Given the description of an element on the screen output the (x, y) to click on. 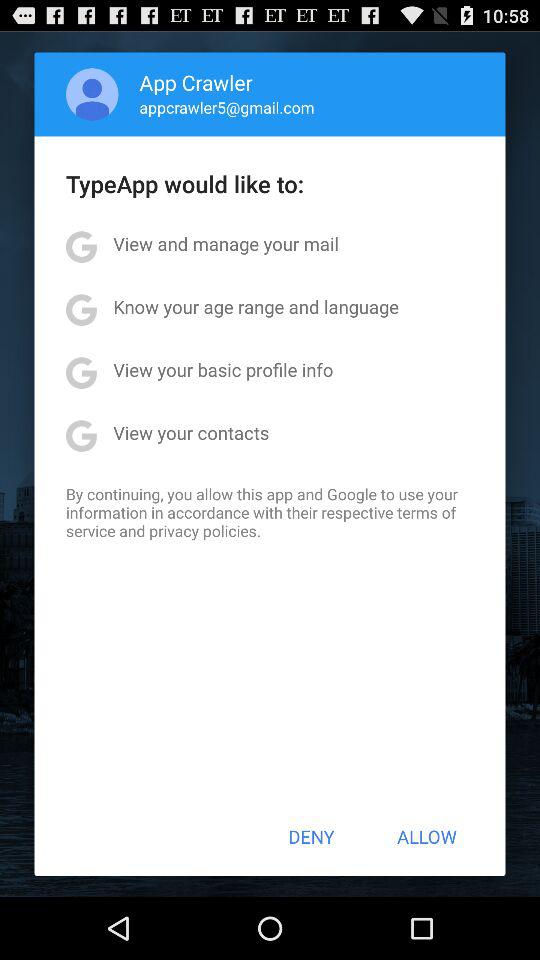
scroll until app crawler icon (195, 82)
